Given the description of an element on the screen output the (x, y) to click on. 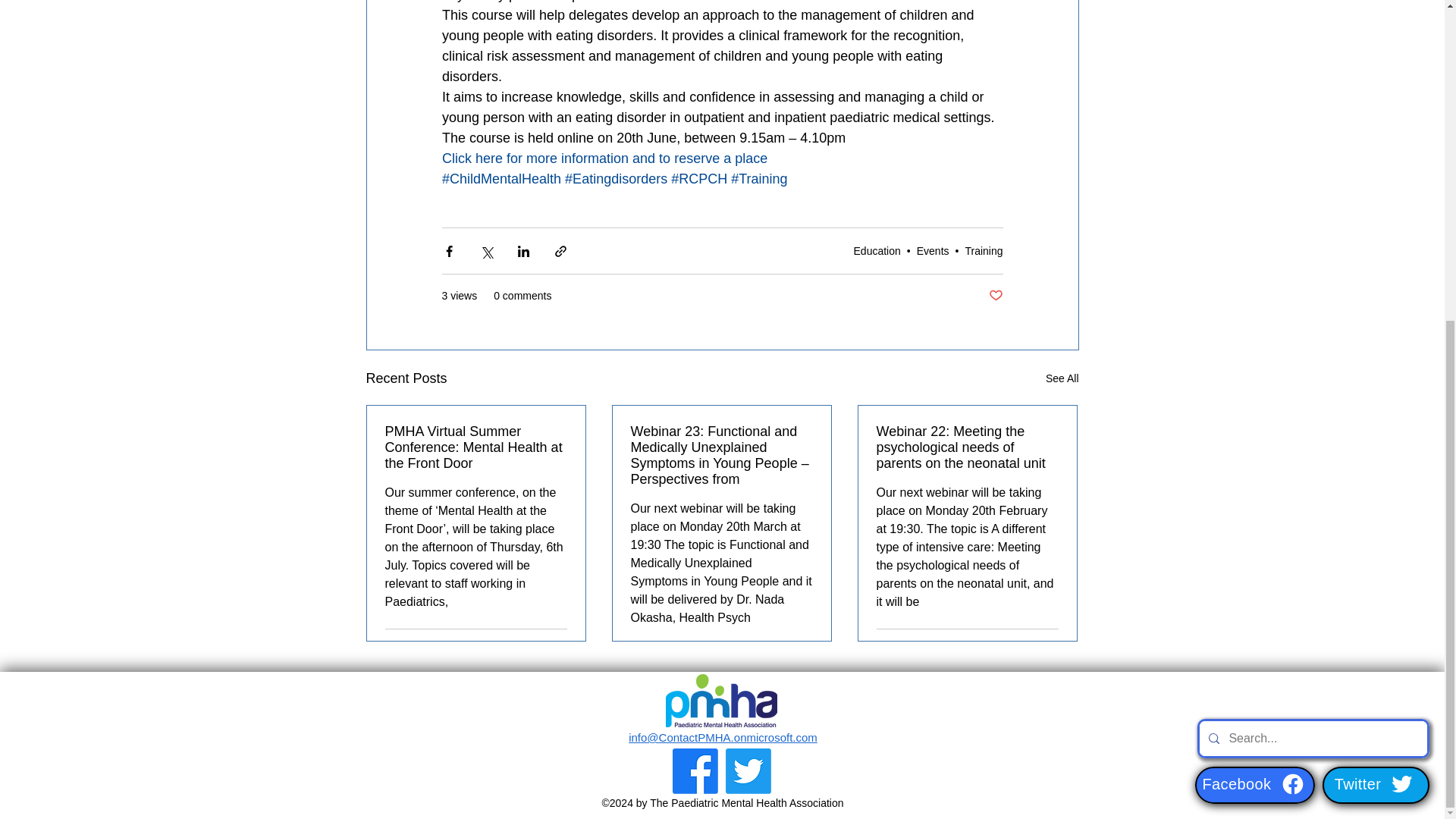
Events (933, 250)
Education (877, 250)
See All (1061, 378)
Post not marked as liked (995, 295)
Training (983, 250)
Click here for more information and to reserve a place (604, 158)
